Given the description of an element on the screen output the (x, y) to click on. 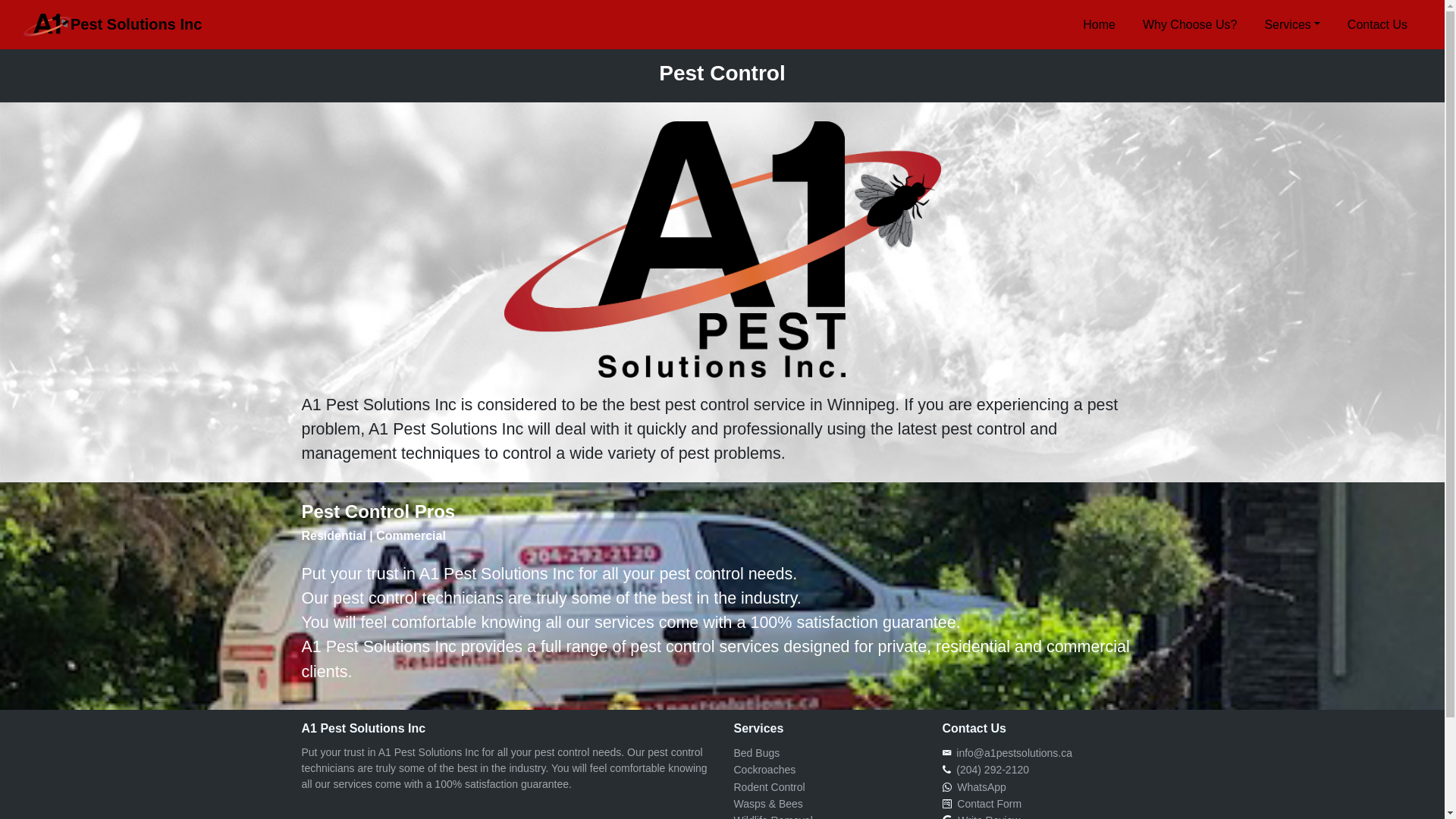
  info@a1pestsolutions.ca Element type: text (1011, 752)
  Contact Form Element type: text (985, 803)
Rodent Control Element type: text (769, 787)
Services Element type: text (1291, 24)
Cockroaches Element type: text (765, 769)
Why Choose Us? Element type: text (1190, 24)
Home Element type: text (1099, 24)
Wasps & Bees Element type: text (768, 803)
  (204) 292-2120 Element type: text (989, 769)
Bed Bugs Element type: text (757, 752)
Pest Solutions Inc Element type: text (112, 24)
Contact Us Element type: text (1377, 24)
  WhatsApp Element type: text (977, 787)
